Given the description of an element on the screen output the (x, y) to click on. 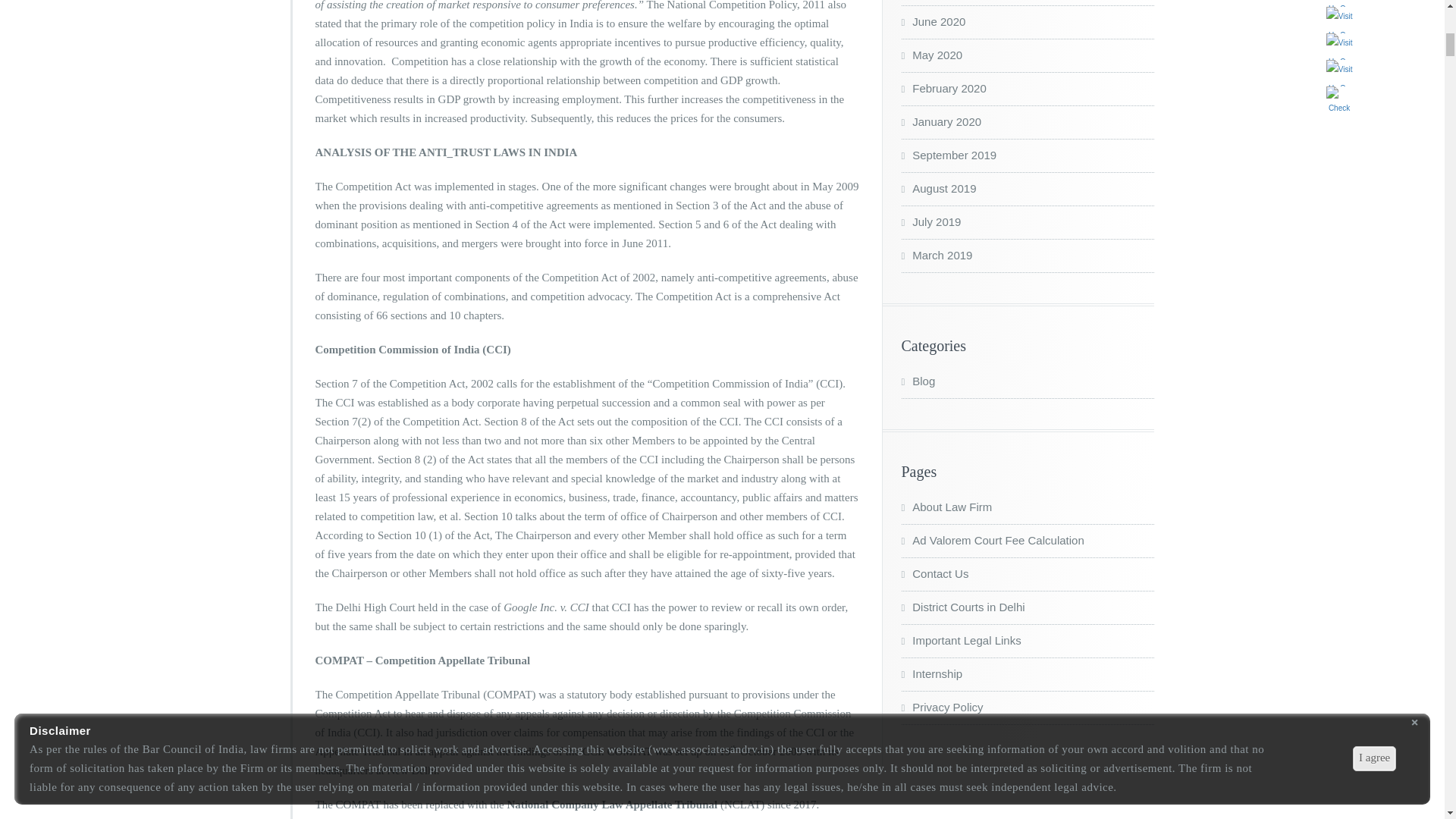
Visit Us On Instagram (1338, 19)
Visit Us On Youtube (1338, 46)
Visit Us On Twitter (1338, 3)
Visit Us On Linkedin (1338, 72)
Check Our Feed (1338, 99)
